Given the description of an element on the screen output the (x, y) to click on. 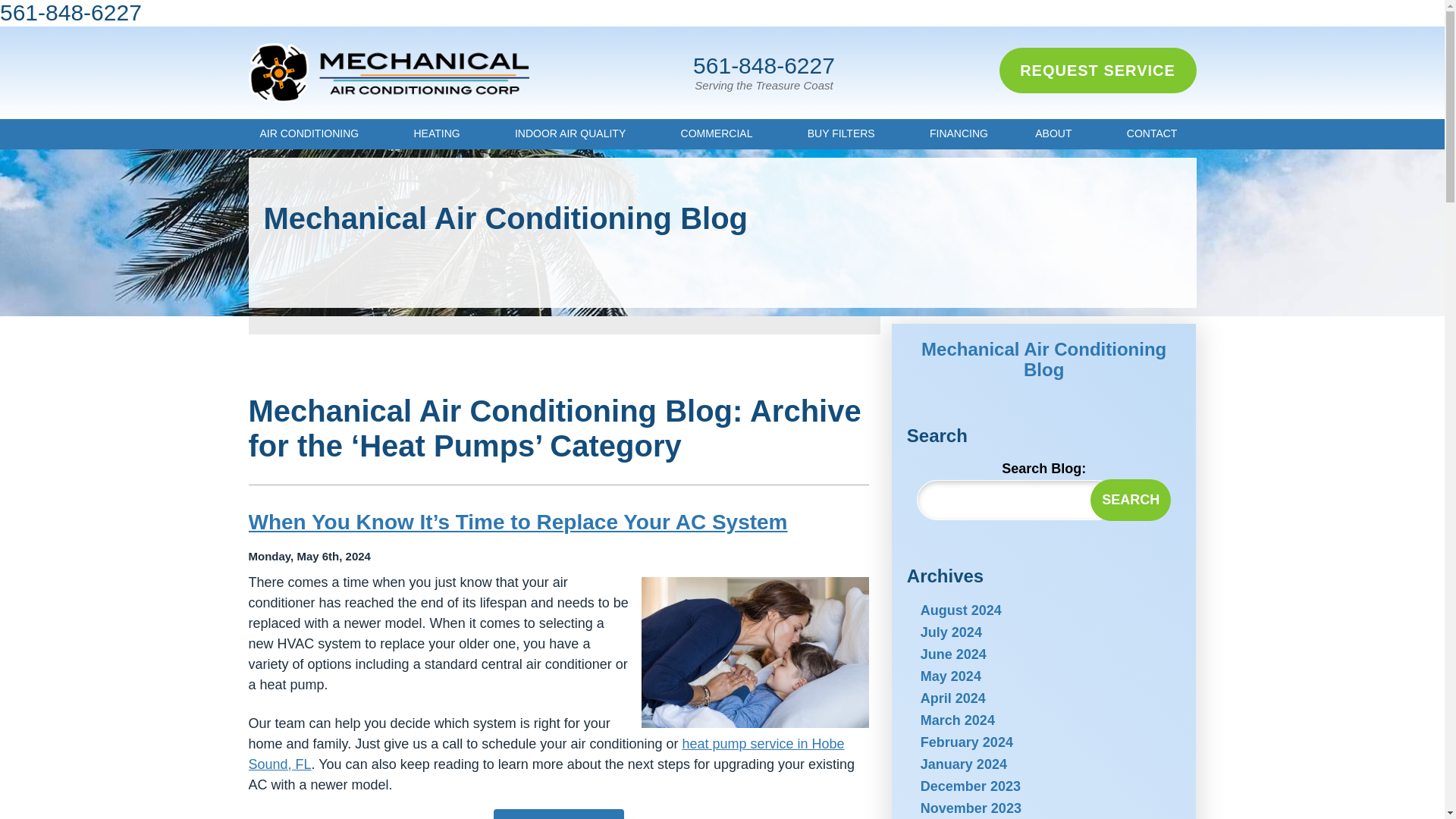
REQUEST SERVICE (1097, 70)
INDOOR AIR QUALITY (574, 133)
FINANCING (958, 133)
561-848-6227 (763, 65)
561-848-6227 (70, 12)
BUY FILTERS (844, 133)
ABOUT (1056, 133)
COMMERCIAL (720, 133)
AIR CONDITIONING (313, 133)
HEATING (440, 133)
